Given the description of an element on the screen output the (x, y) to click on. 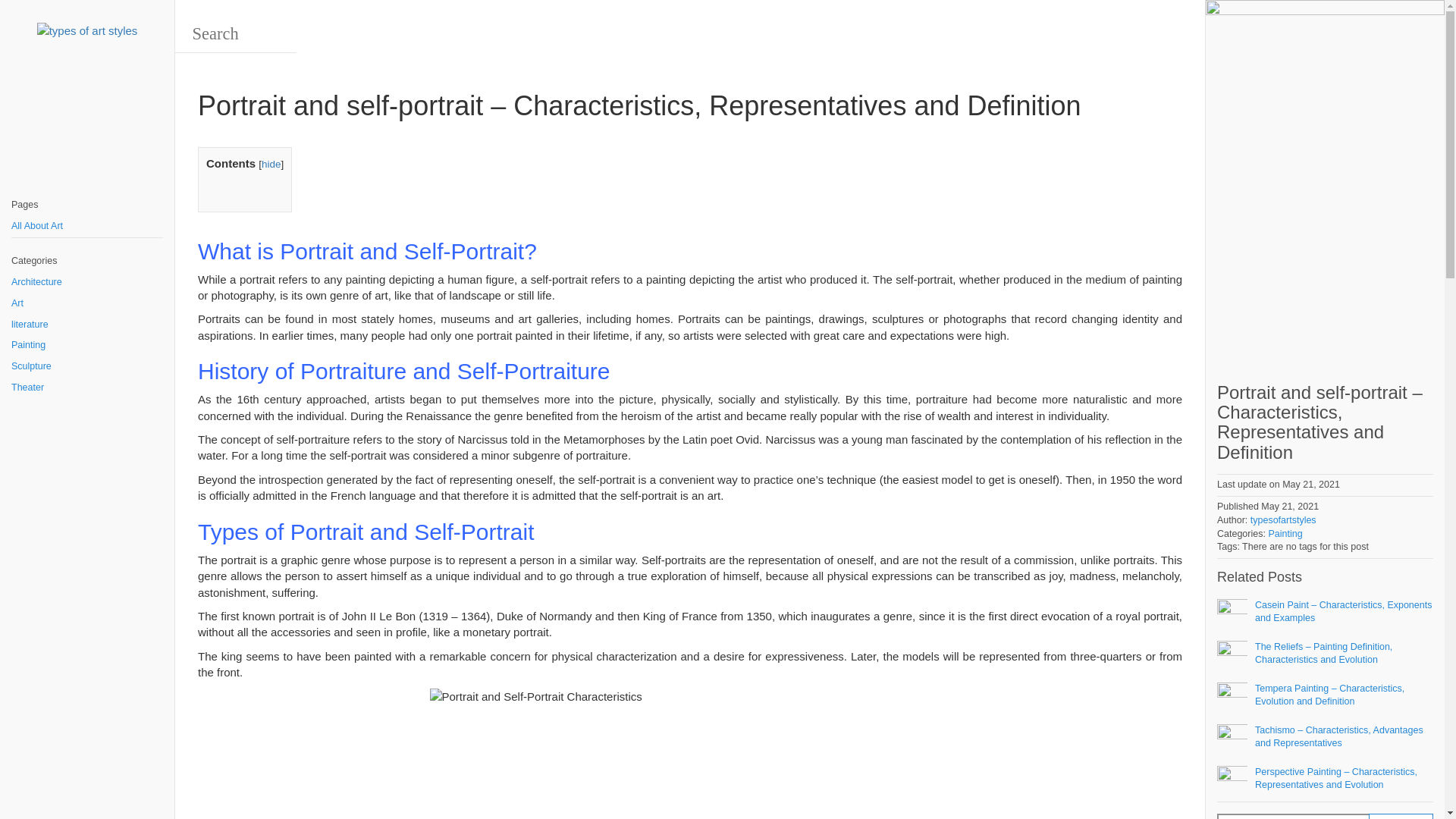
Art (87, 303)
Search (1400, 816)
Search (1292, 816)
Architecture (87, 282)
Painting (1284, 533)
Search (1400, 816)
Search (1400, 816)
Theater (87, 387)
Search (58, 18)
Painting (87, 345)
hide (271, 163)
Sculpture (87, 366)
All About Art (87, 226)
Portrait and Self-Portrait (689, 753)
typesofartstyles (1283, 520)
